Given the description of an element on the screen output the (x, y) to click on. 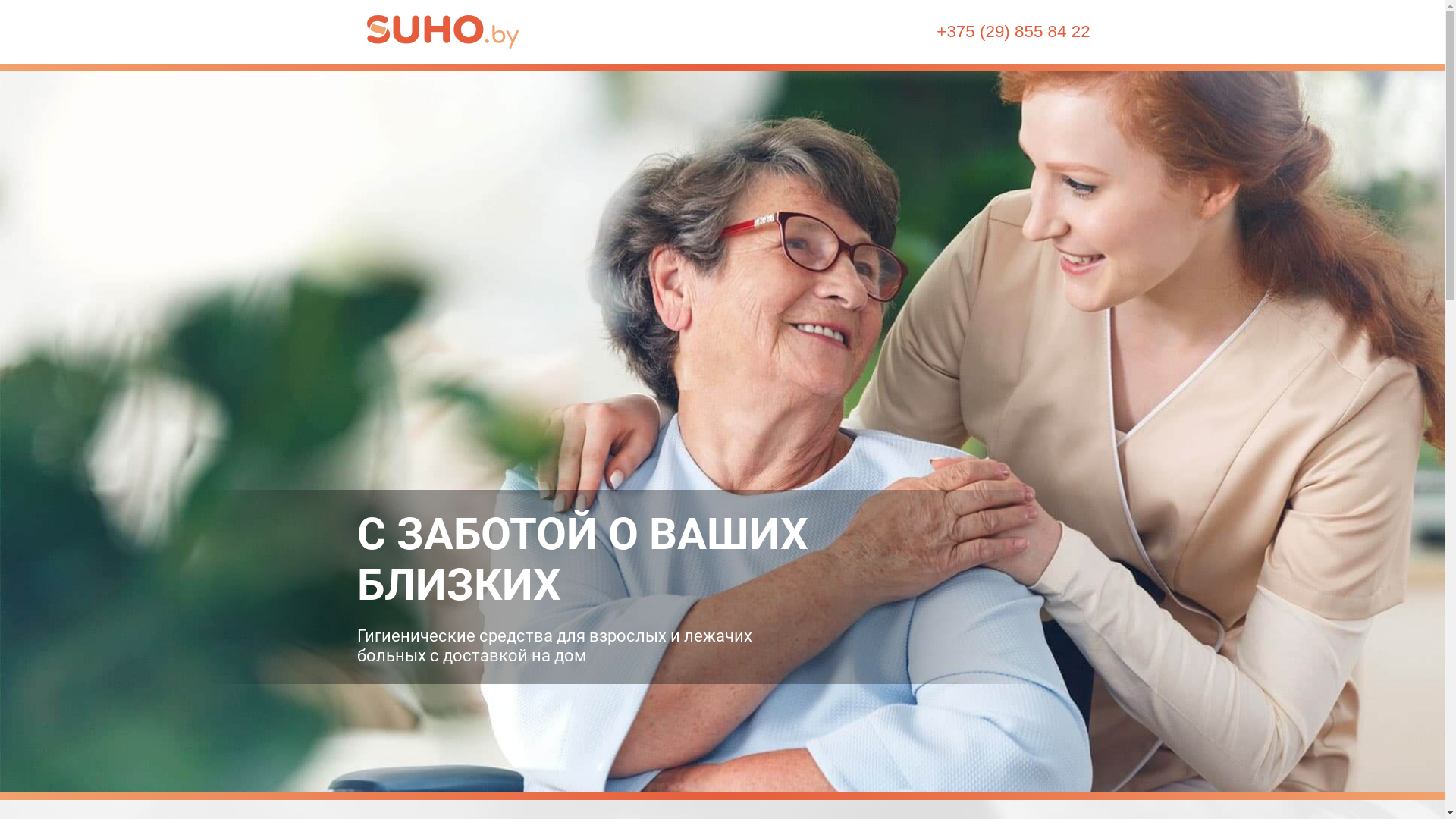
+375 (29) 855 84 22 Element type: text (1012, 31)
